Given the description of an element on the screen output the (x, y) to click on. 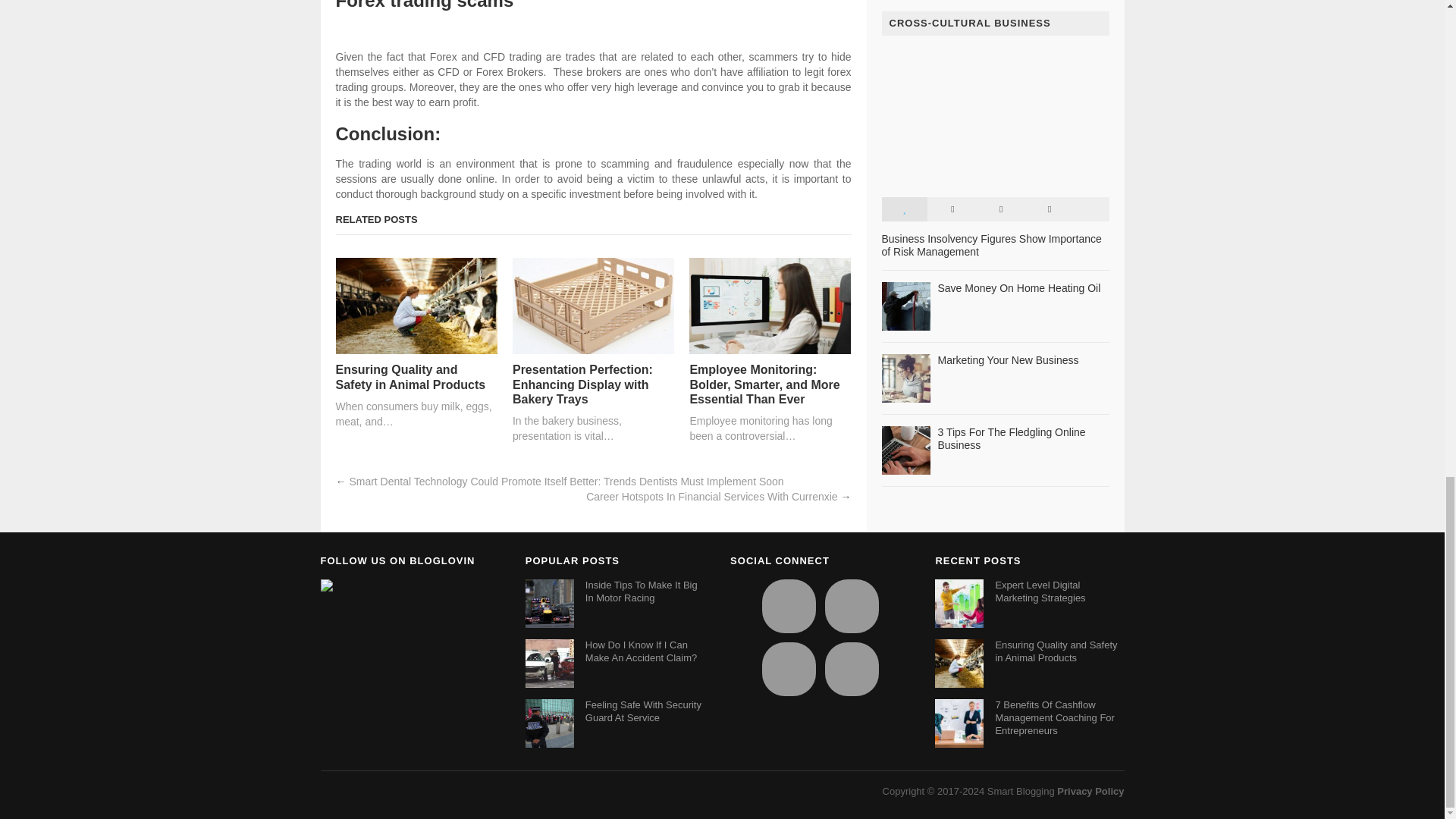
Tags (1048, 209)
Latest (952, 209)
Comments (1000, 209)
Popular (903, 209)
